Given the description of an element on the screen output the (x, y) to click on. 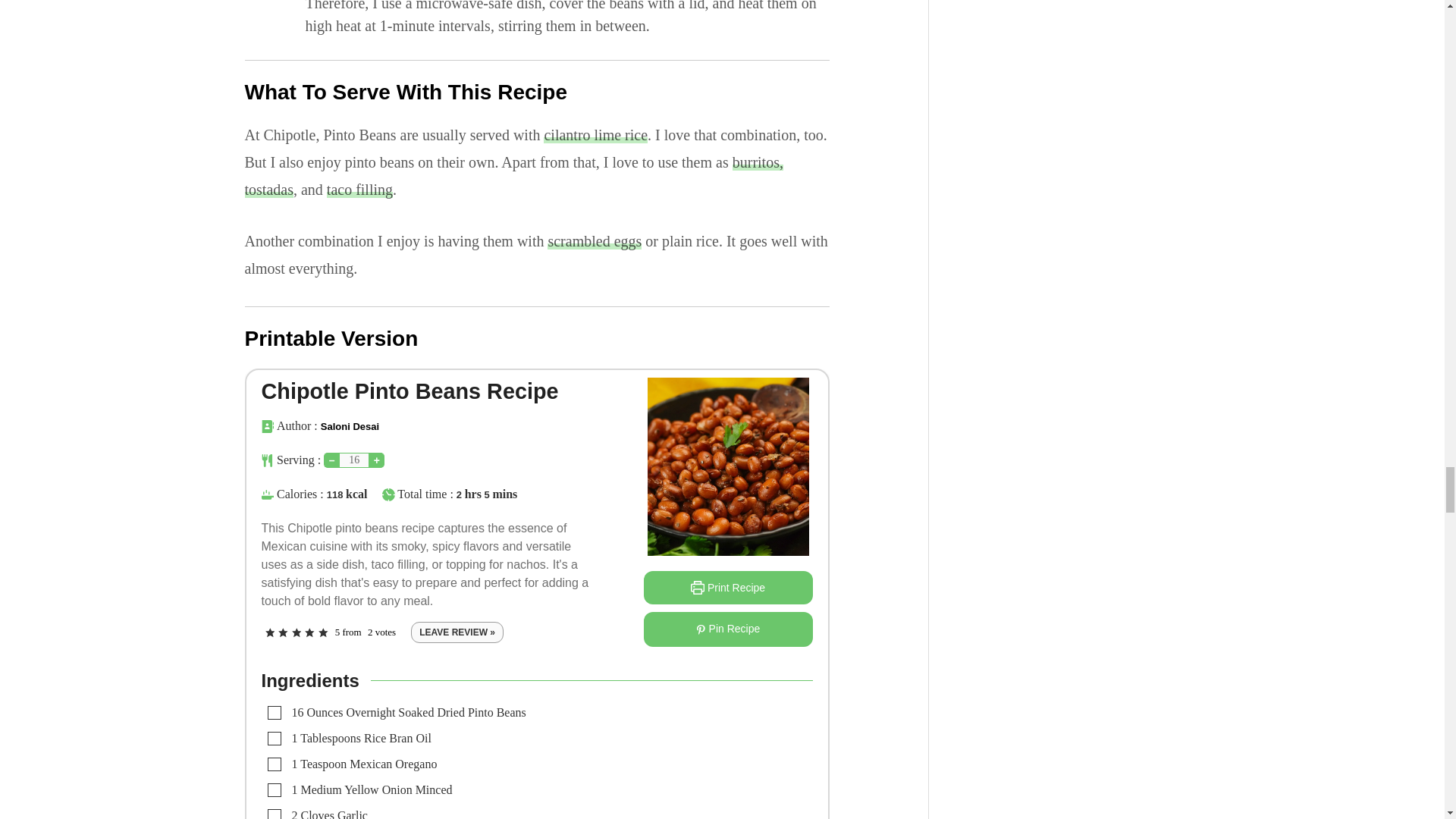
16 (354, 459)
